Given the description of an element on the screen output the (x, y) to click on. 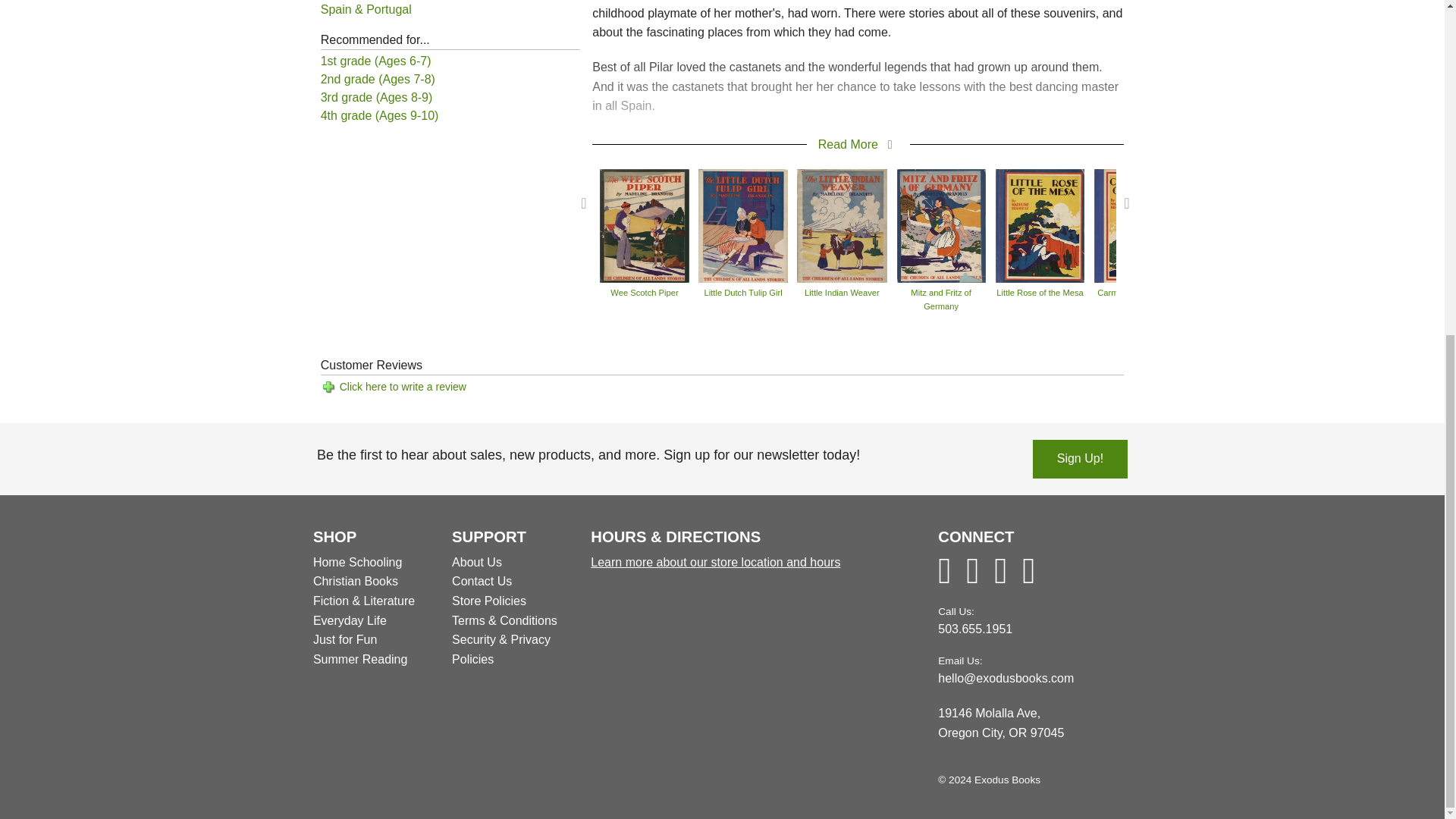
Wee Scotch Piper (643, 224)
Little Indian Weaver (841, 224)
Little Farmer of the Middle West (1336, 224)
Mitz and Fritz of Germany (940, 224)
Little Dutch Tulip Girl (742, 224)
Carmen of the Golden Coast (1139, 224)
Little John of New England (1237, 224)
Little Rose of the Mesa (1039, 224)
